Given the description of an element on the screen output the (x, y) to click on. 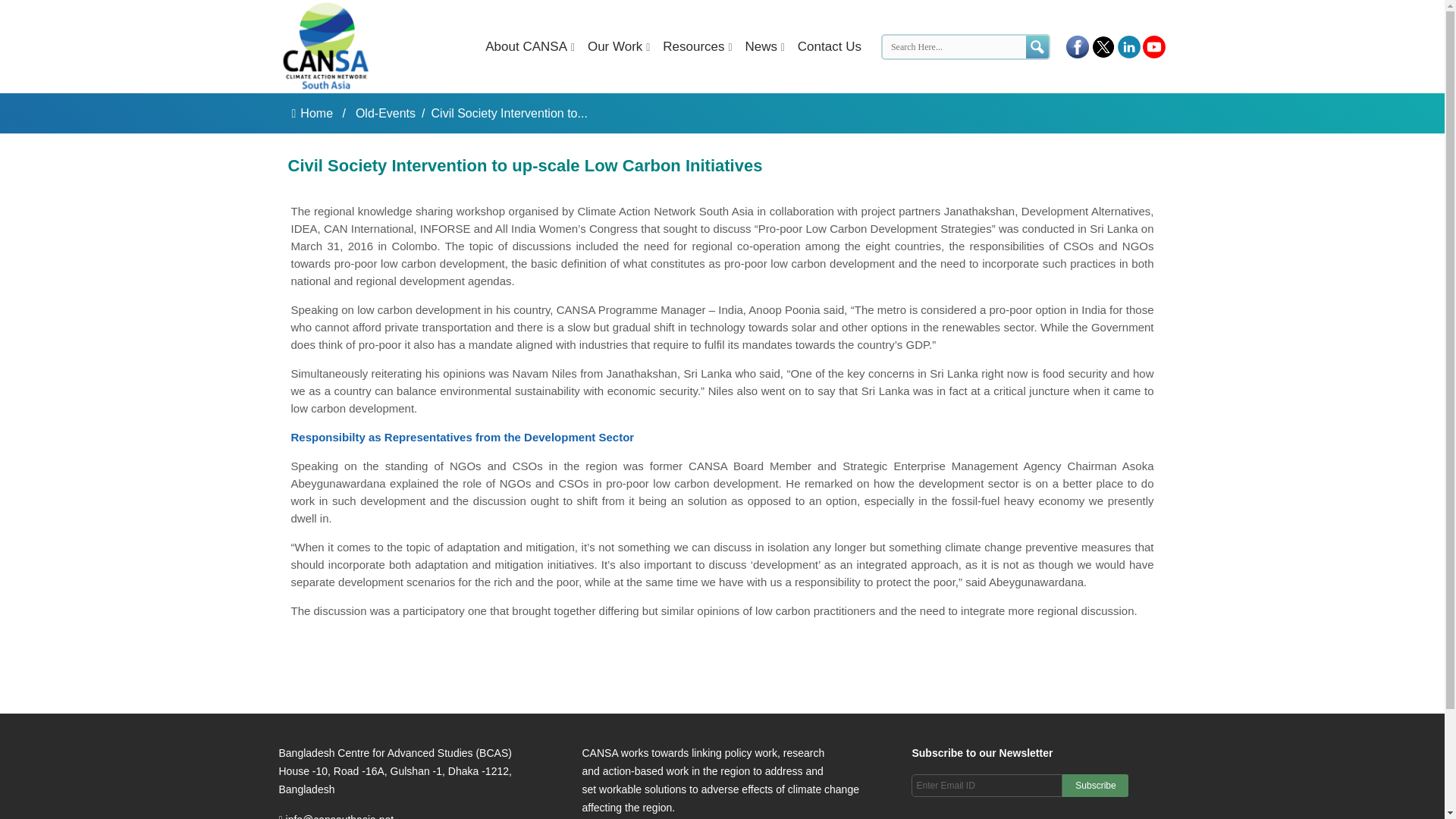
Our Work (610, 46)
Category Name (383, 113)
Old-Events (384, 113)
About CANSA (521, 46)
